Given the description of an element on the screen output the (x, y) to click on. 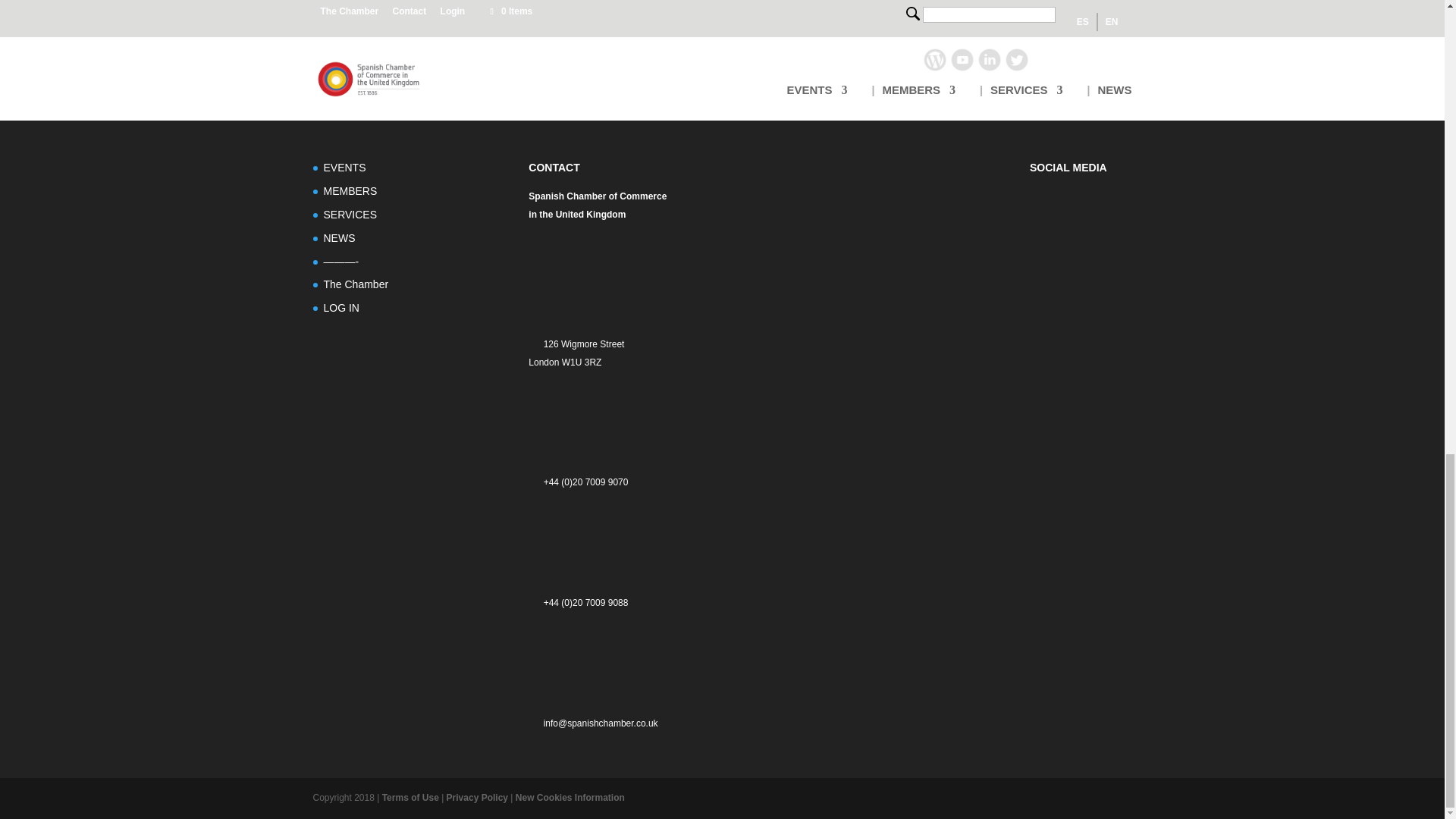
EVENTS (344, 167)
REGISTER HERE (361, 33)
MEMBERS (350, 191)
NEWS (339, 237)
SERVICES (350, 214)
